Given the description of an element on the screen output the (x, y) to click on. 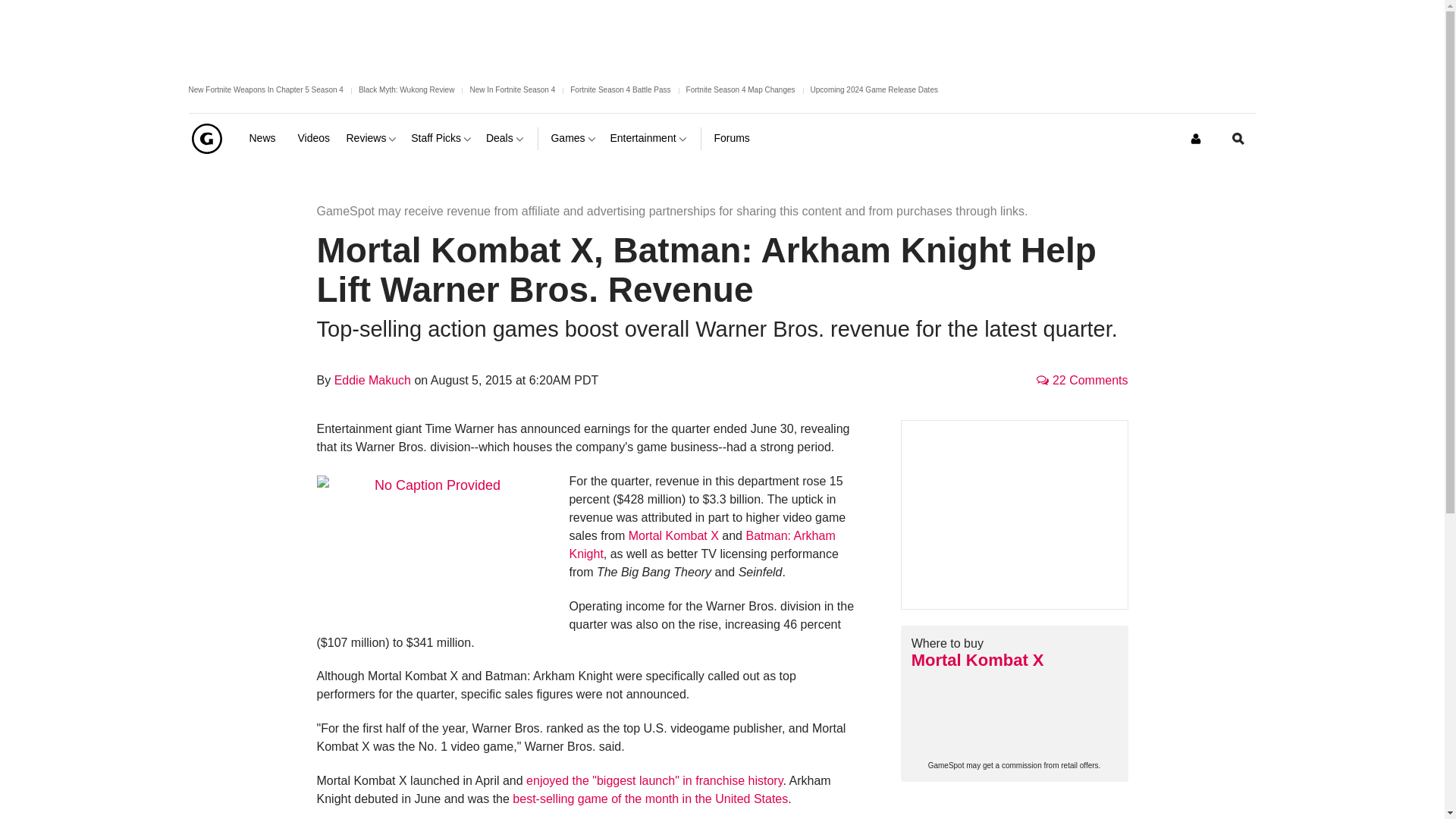
GameSpot (205, 138)
New Fortnite Weapons In Chapter 5 Season 4 (264, 89)
Fortnite Season 4 Battle Pass (619, 89)
News (266, 138)
Upcoming 2024 Game Release Dates (873, 89)
Reviews (372, 138)
Fortnite Season 4 Map Changes (739, 89)
Deals (505, 138)
New In Fortnite Season 4 (511, 89)
